Given the description of an element on the screen output the (x, y) to click on. 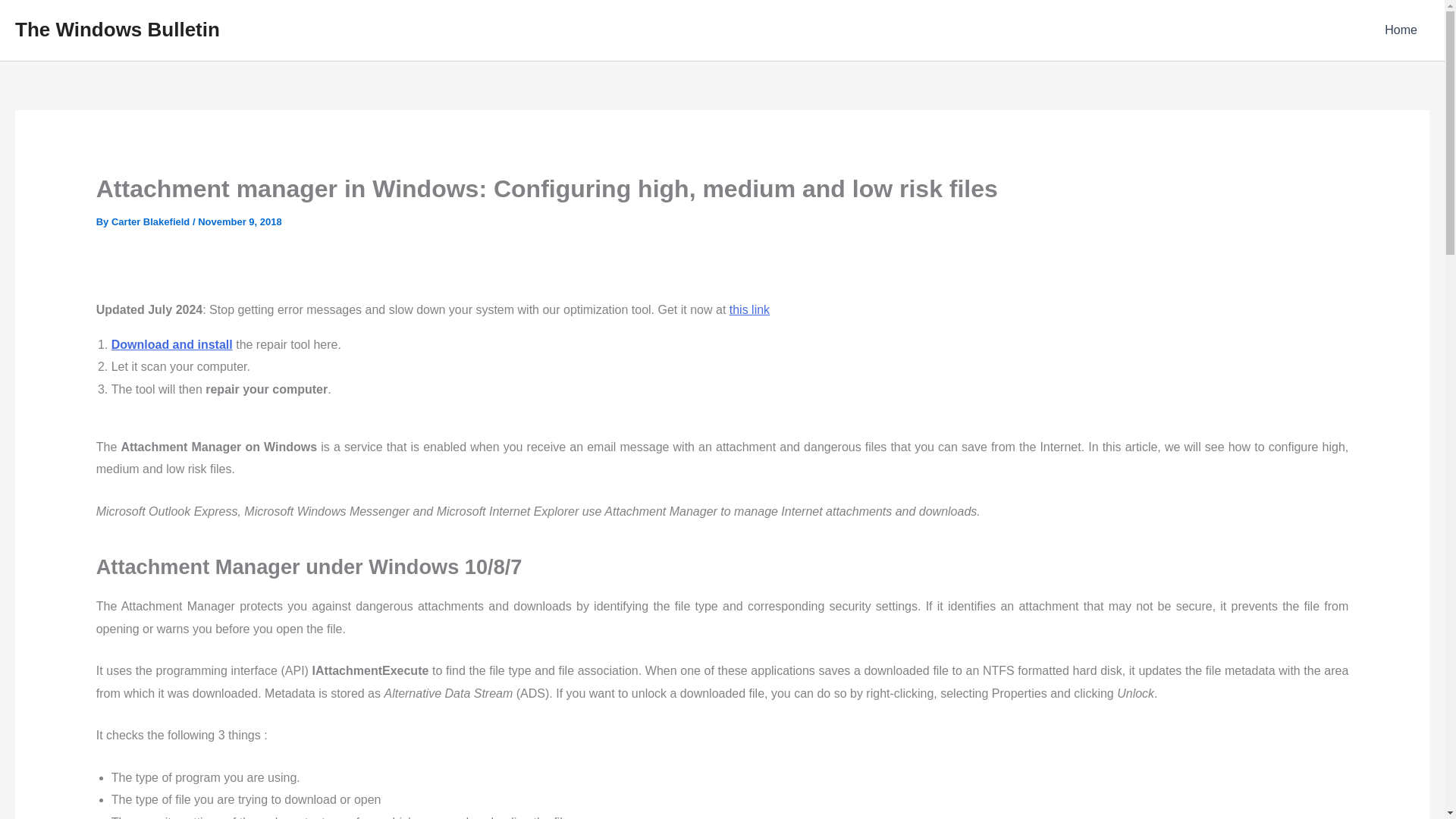
View all posts by Carter Blakefield (152, 221)
this link (749, 309)
Download and install (172, 344)
Carter Blakefield (152, 221)
The Windows Bulletin (116, 29)
Home (1401, 30)
